Given the description of an element on the screen output the (x, y) to click on. 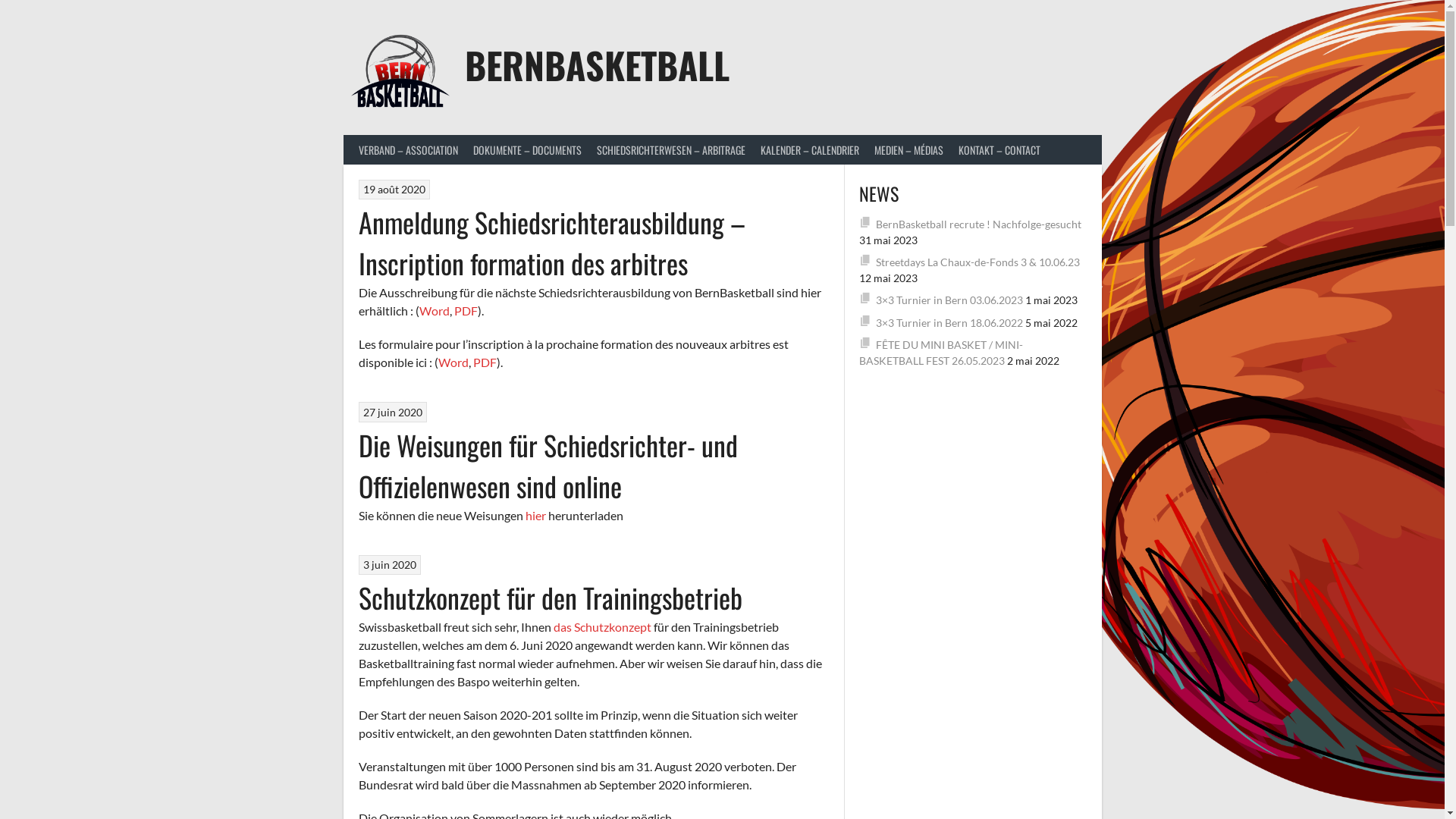
Word Element type: text (433, 310)
3 juin 2020 Element type: text (389, 564)
BernBasketball recrute ! Nachfolge-gesucht Element type: text (978, 222)
das Schutzkonzept Element type: text (602, 626)
Streetdays La Chaux-de-Fonds 3 & 10.06.23 Element type: text (977, 261)
PDF Element type: text (484, 361)
hier Element type: text (535, 515)
BERNBASKETBALL Element type: text (596, 64)
PDF Element type: text (464, 310)
Word Element type: text (453, 361)
27 juin 2020 Element type: text (392, 411)
